Given the description of an element on the screen output the (x, y) to click on. 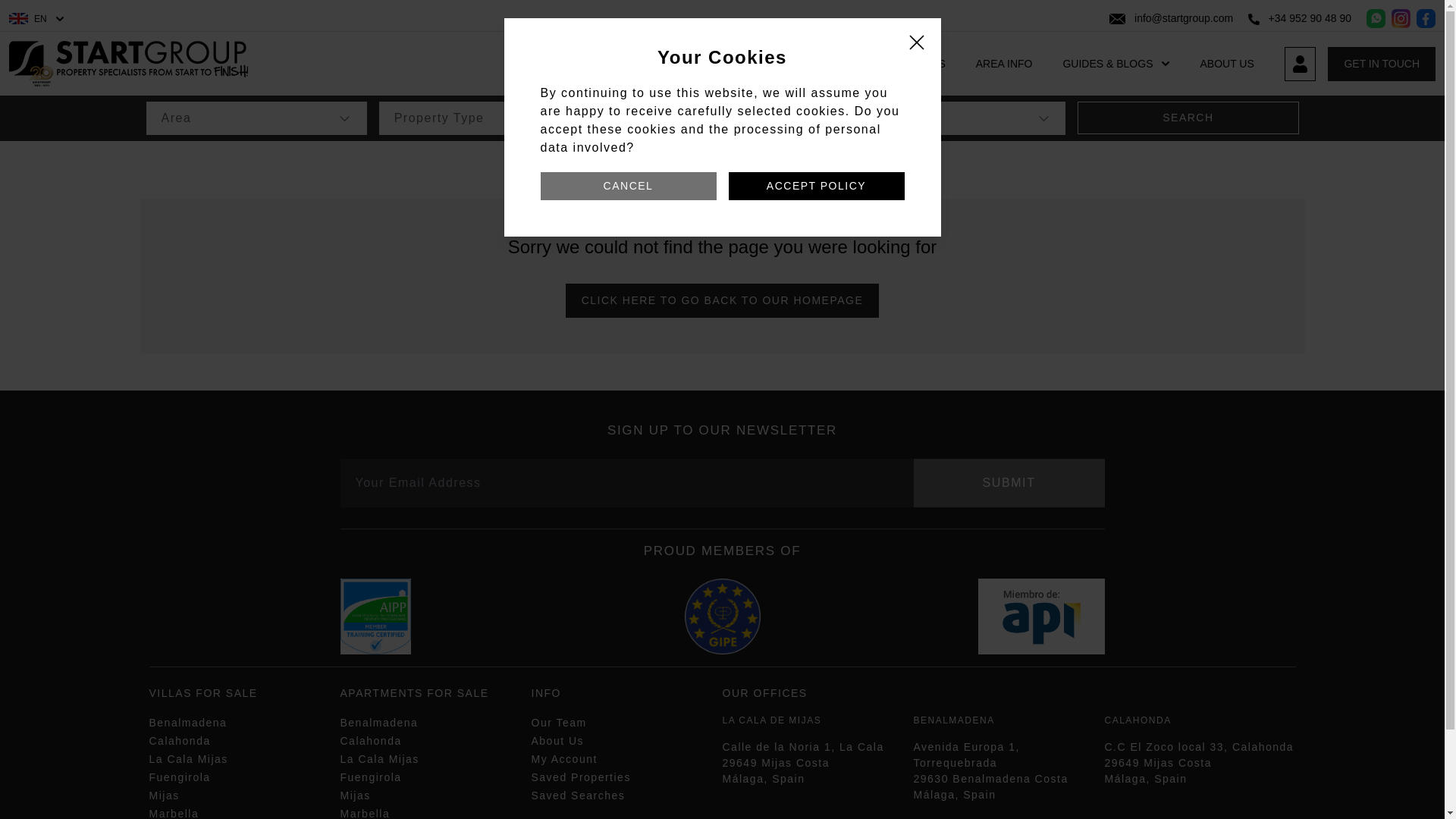
EN (36, 18)
ABOUT US (1226, 63)
AREA INFO (1003, 63)
FEATURED PROPERTIES (735, 63)
GET IN TOUCH (1381, 63)
NEW DEVELOPMENTS (886, 63)
